Given the description of an element on the screen output the (x, y) to click on. 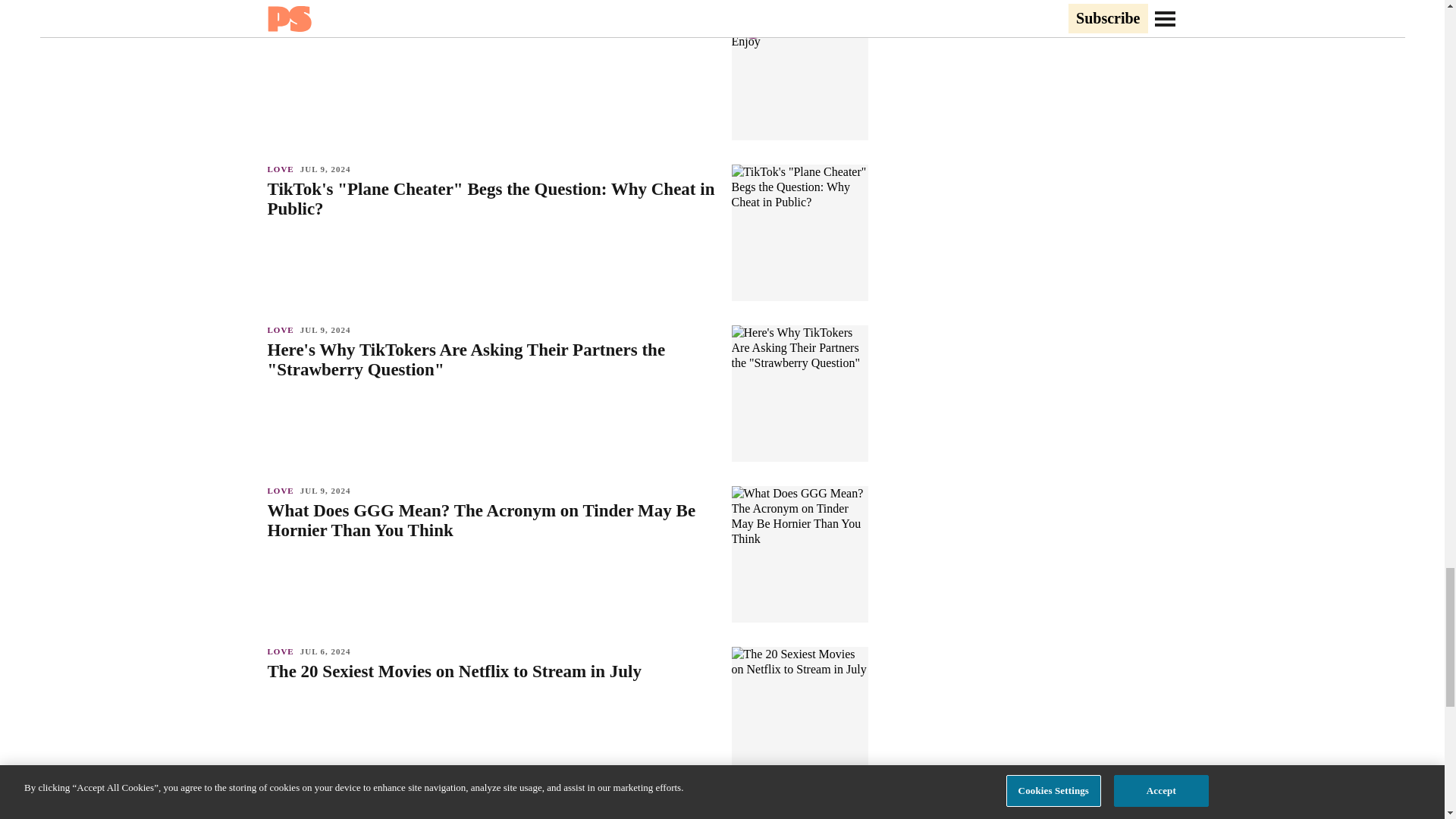
LOVE (282, 8)
15 Fun Bridal Shower Games All Guests Will Enjoy (491, 28)
